Given the description of an element on the screen output the (x, y) to click on. 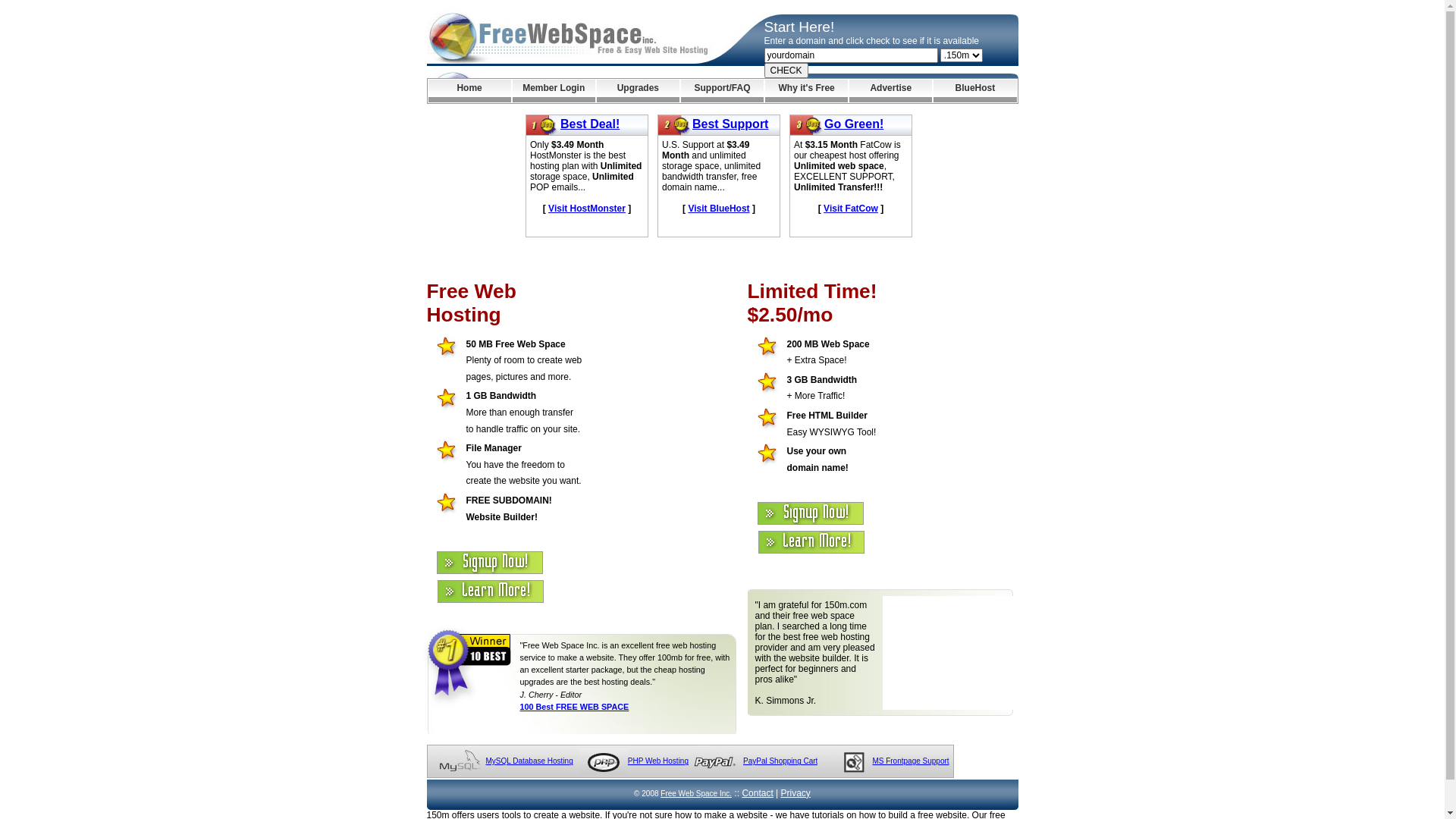
PHP Web Hosting Element type: text (657, 760)
100 Best FREE WEB SPACE Element type: text (574, 706)
BlueHost Element type: text (974, 90)
PayPal Shopping Cart Element type: text (780, 760)
Privacy Element type: text (795, 792)
CHECK Element type: text (786, 70)
Support/FAQ Element type: text (721, 90)
Member Login Element type: text (553, 90)
Why it's Free Element type: text (806, 90)
MS Frontpage Support Element type: text (910, 760)
MySQL Database Hosting Element type: text (528, 760)
Upgrades Element type: text (637, 90)
Advertise Element type: text (890, 90)
Free Web Space Inc. Element type: text (695, 793)
Home Element type: text (468, 90)
Contact Element type: text (756, 792)
